Given the description of an element on the screen output the (x, y) to click on. 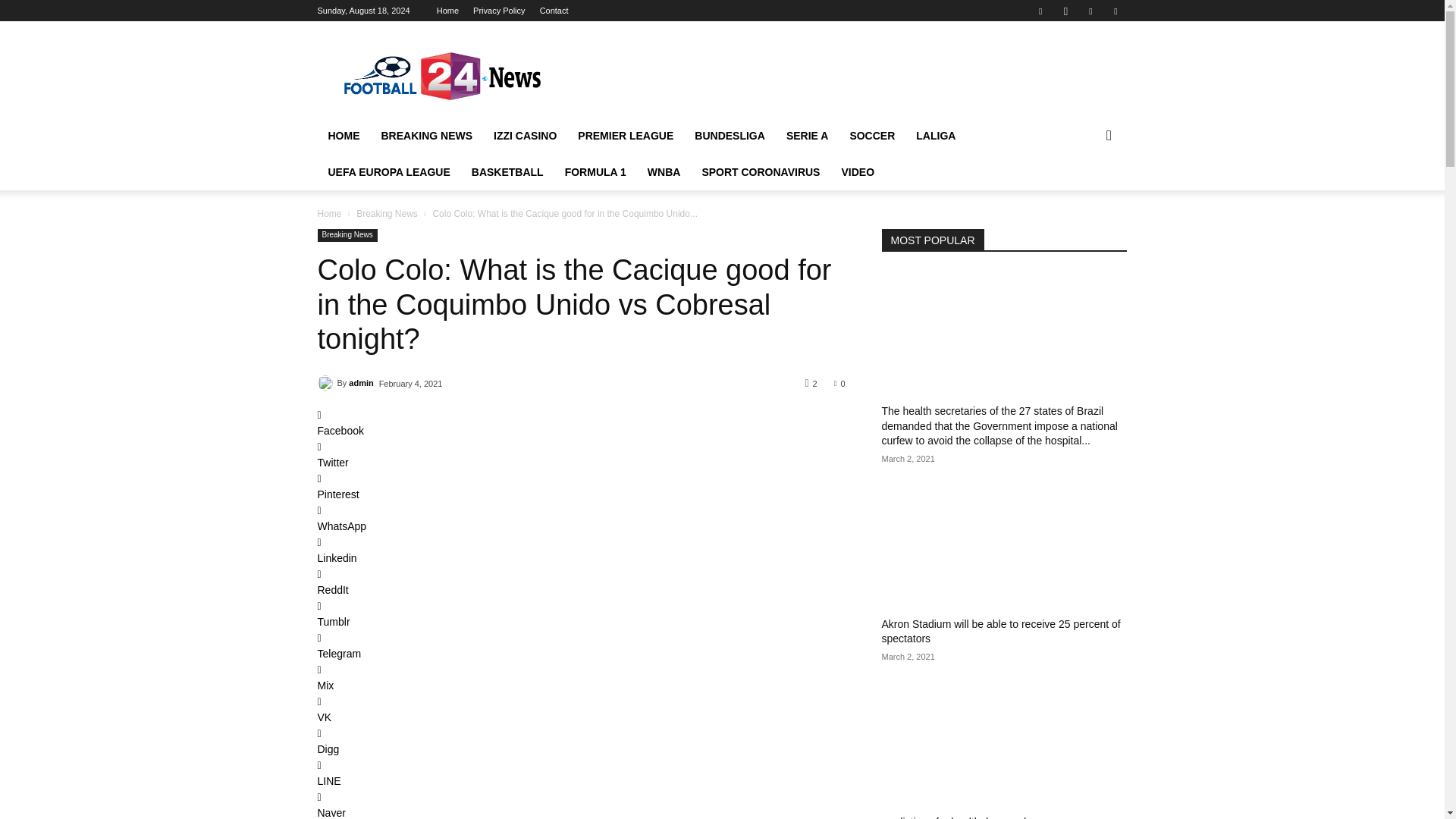
RSS (1090, 10)
Instagram (1065, 10)
View all posts in Breaking News (386, 213)
Privacy Policy (498, 10)
Home (447, 10)
Facebook (1040, 10)
HOME (343, 135)
Twitter (1114, 10)
Contact (554, 10)
